Given the description of an element on the screen output the (x, y) to click on. 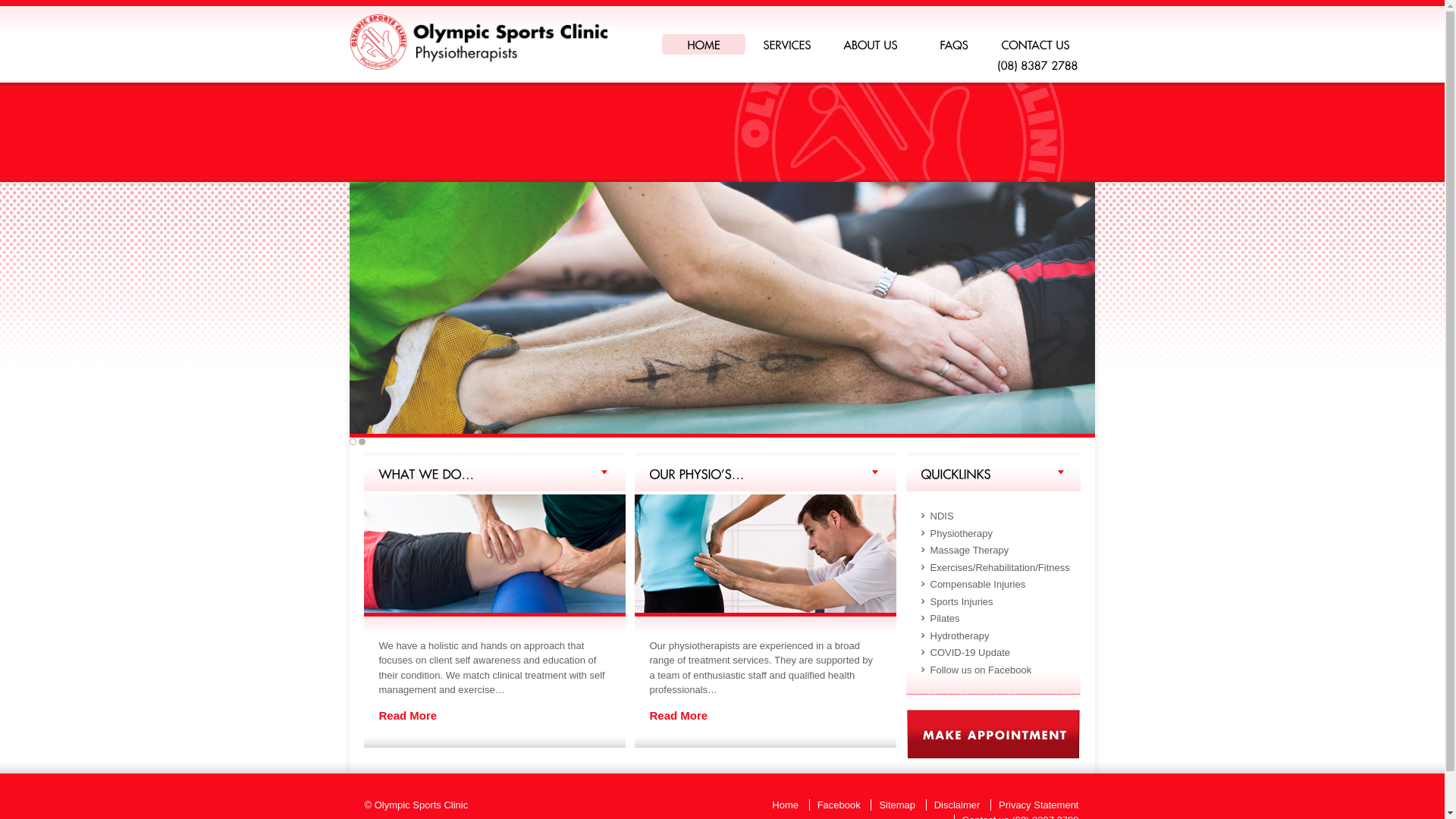
NDIS Element type: text (941, 516)
Sports Injuries Element type: text (960, 600)
Compensable Injuries Element type: text (977, 584)
Exercises/Rehabilitation/Fitness Element type: text (999, 567)
Pilates Element type: text (944, 618)
Home Element type: text (784, 804)
Home Element type: hover (477, 66)
Sitemap Element type: text (896, 804)
Privacy Statement Element type: text (1038, 804)
Logo Element type: hover (477, 41)
Read More Element type: text (408, 714)
Physiotherapy Element type: text (960, 532)
Our Physios Element type: hover (764, 555)
Read More Element type: text (678, 714)
Disclaimer Element type: text (957, 804)
Massage Therapy Element type: text (968, 550)
Facebook Element type: text (838, 804)
Follow us on Facebook Element type: text (980, 669)
1 Element type: text (351, 441)
COVID-19 Update Element type: text (969, 652)
Hydrotherapy Element type: text (958, 635)
What we do Element type: hover (494, 555)
2 Element type: text (360, 441)
